Given the description of an element on the screen output the (x, y) to click on. 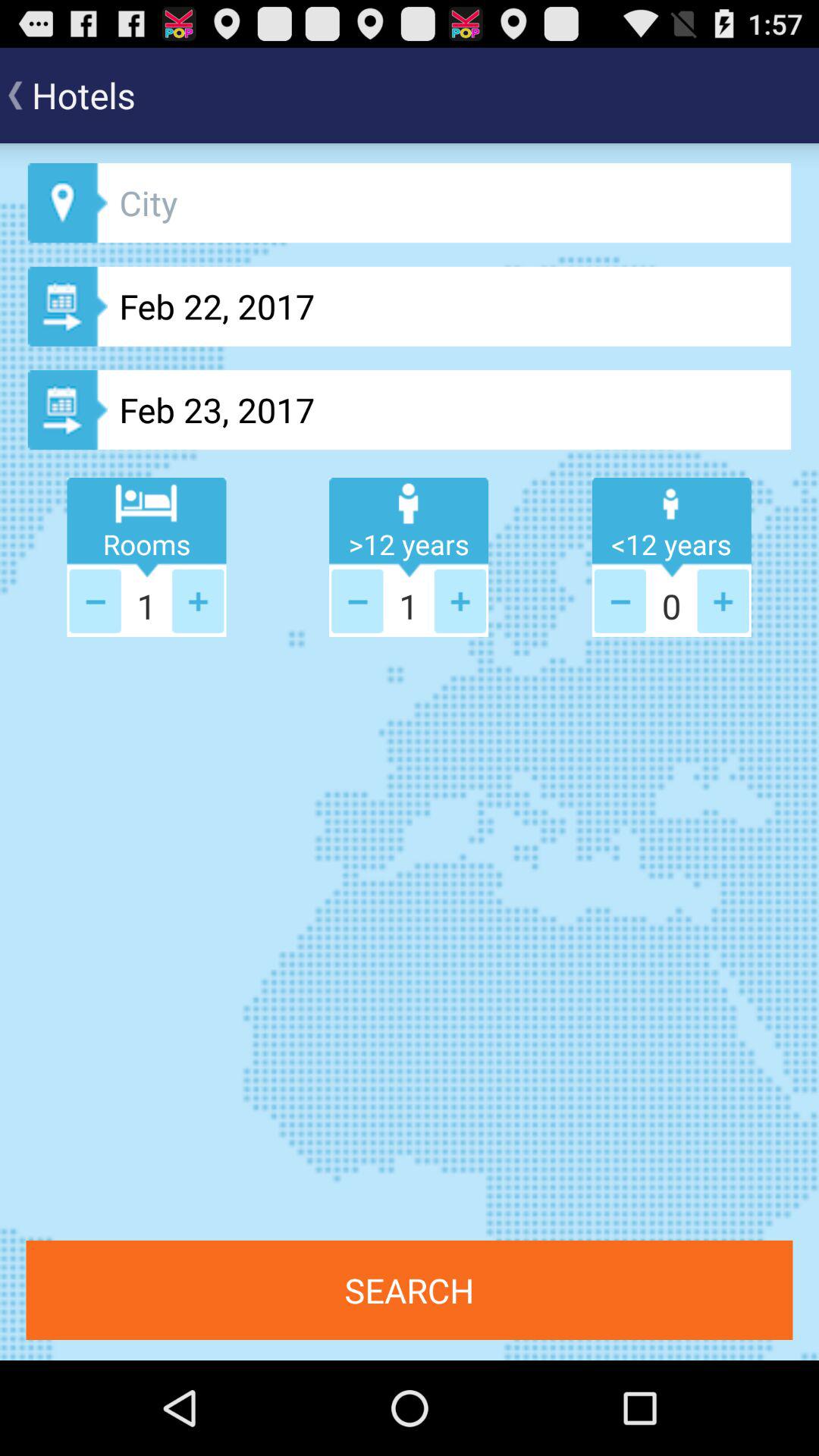
increase the age of guest (723, 601)
